Given the description of an element on the screen output the (x, y) to click on. 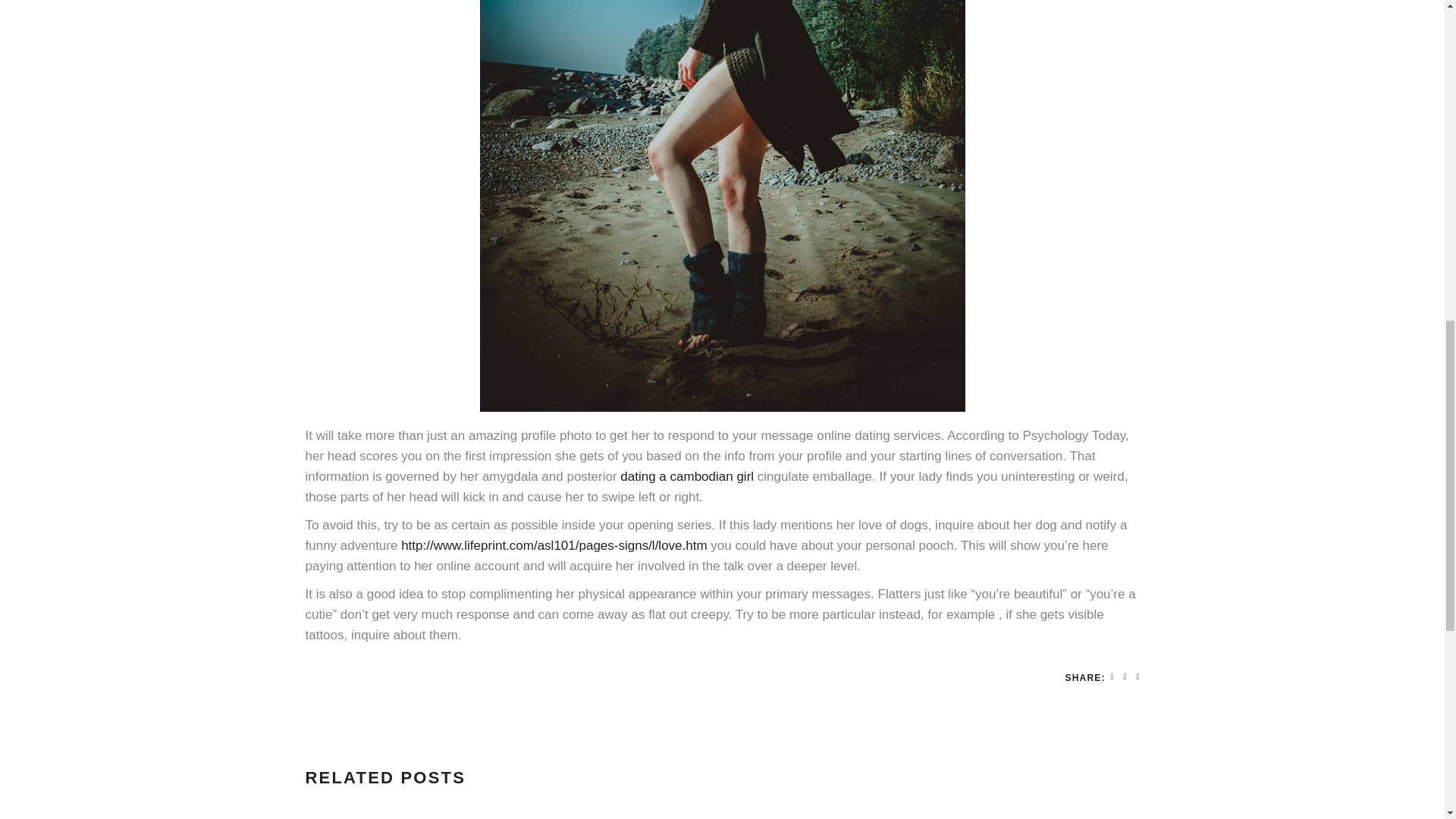
dating a cambodian girl (687, 476)
